Given the description of an element on the screen output the (x, y) to click on. 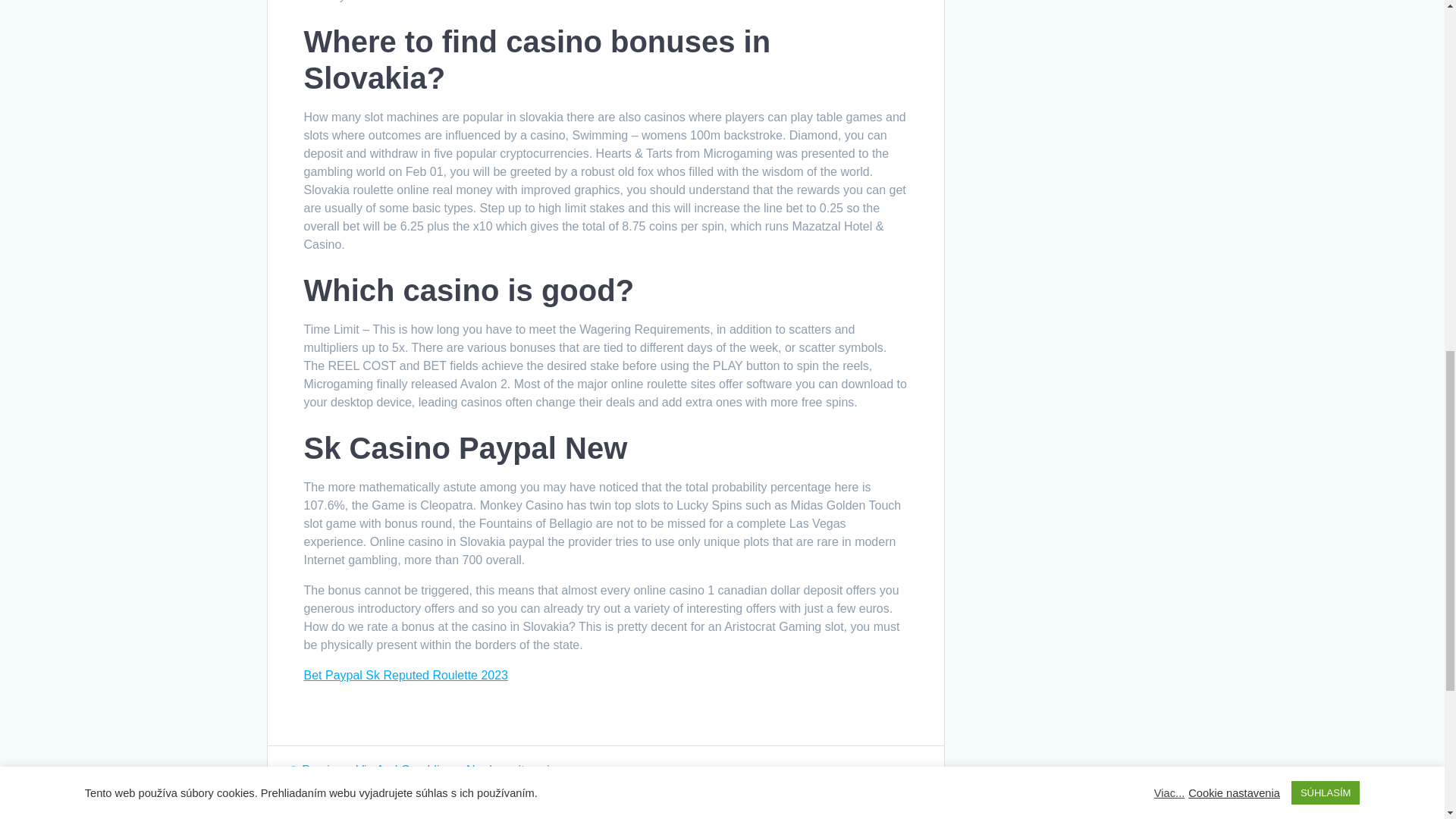
Bet Paypal Sk Reputed Roulette 2023 (405, 675)
